Given the description of an element on the screen output the (x, y) to click on. 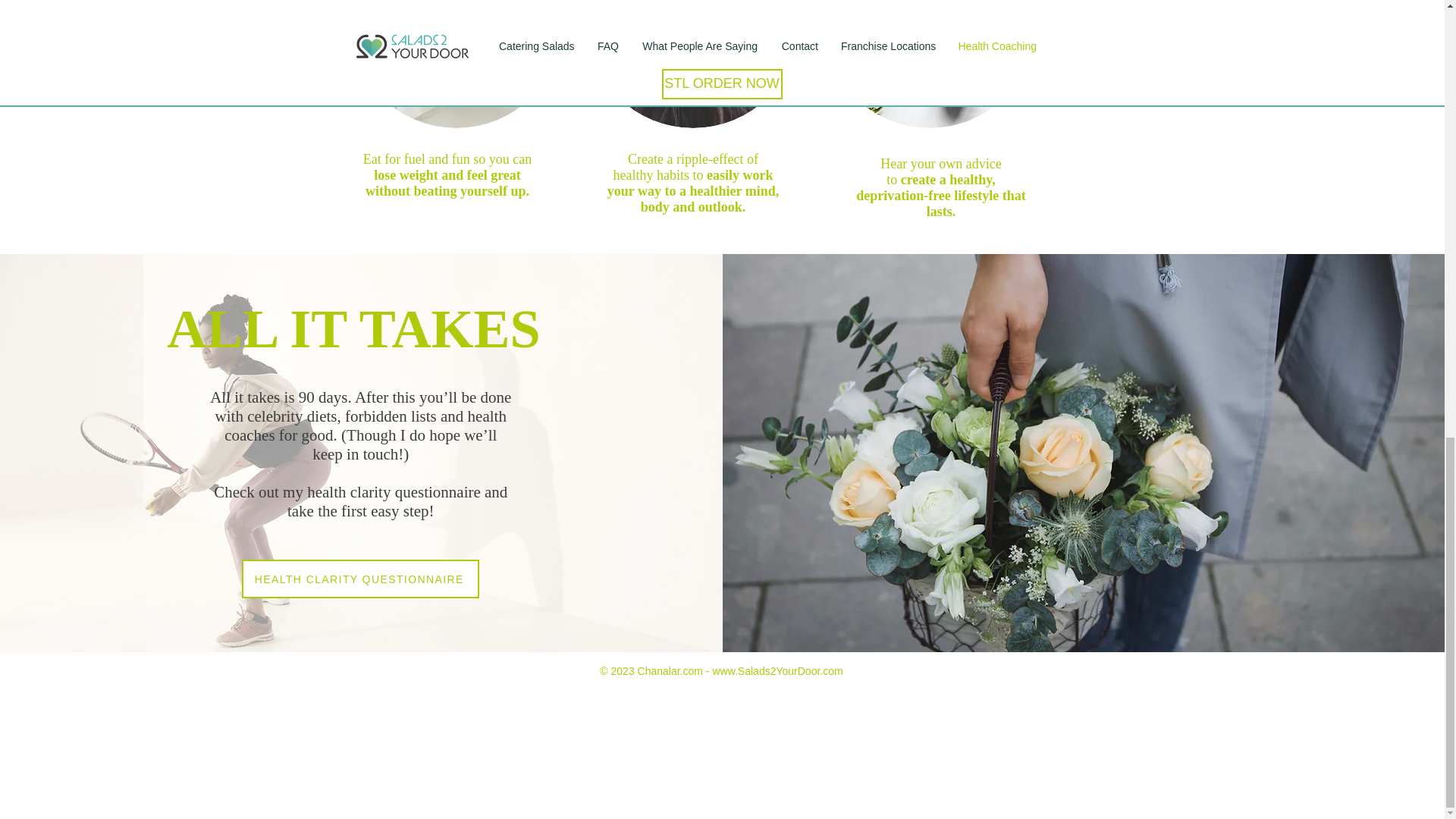
HEALTH CLARITY QUESTIONNAIRE (360, 578)
health clarity questionnaire (393, 492)
www.Salads2YourDoor.com (777, 671)
